Given the description of an element on the screen output the (x, y) to click on. 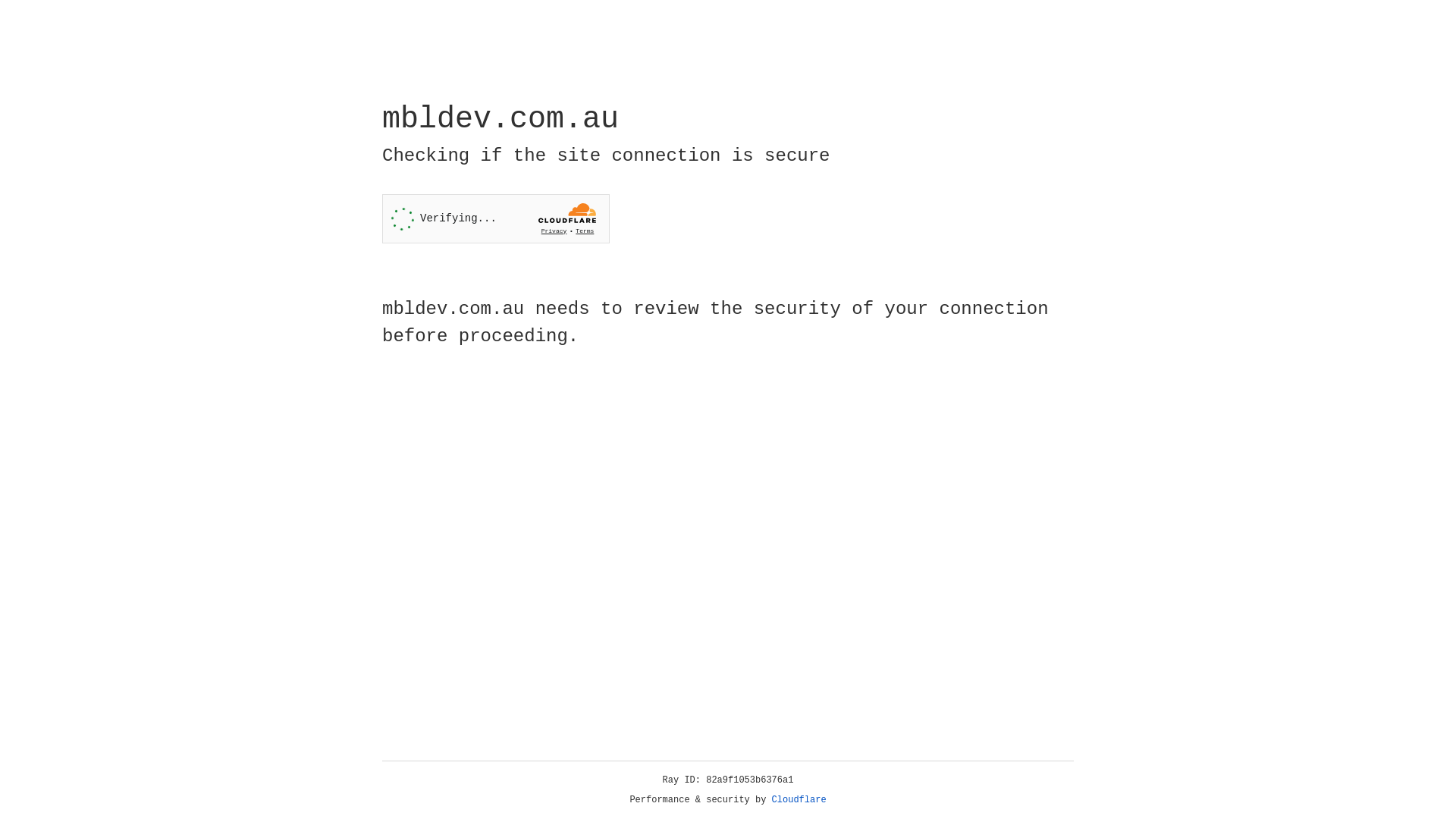
Cloudflare Element type: text (798, 799)
Widget containing a Cloudflare security challenge Element type: hover (495, 218)
